Given the description of an element on the screen output the (x, y) to click on. 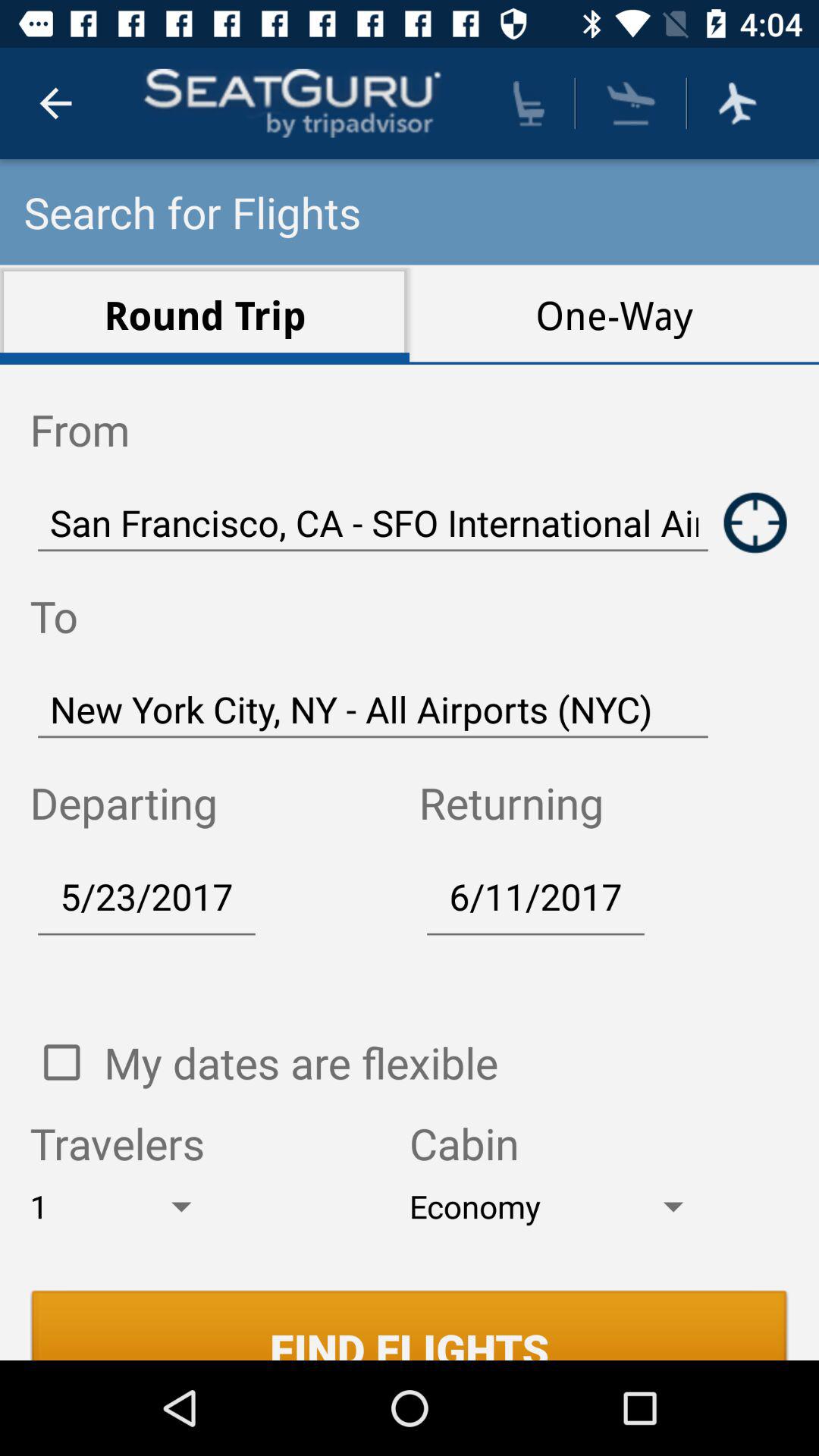
press the icon below returning (535, 895)
